Given the description of an element on the screen output the (x, y) to click on. 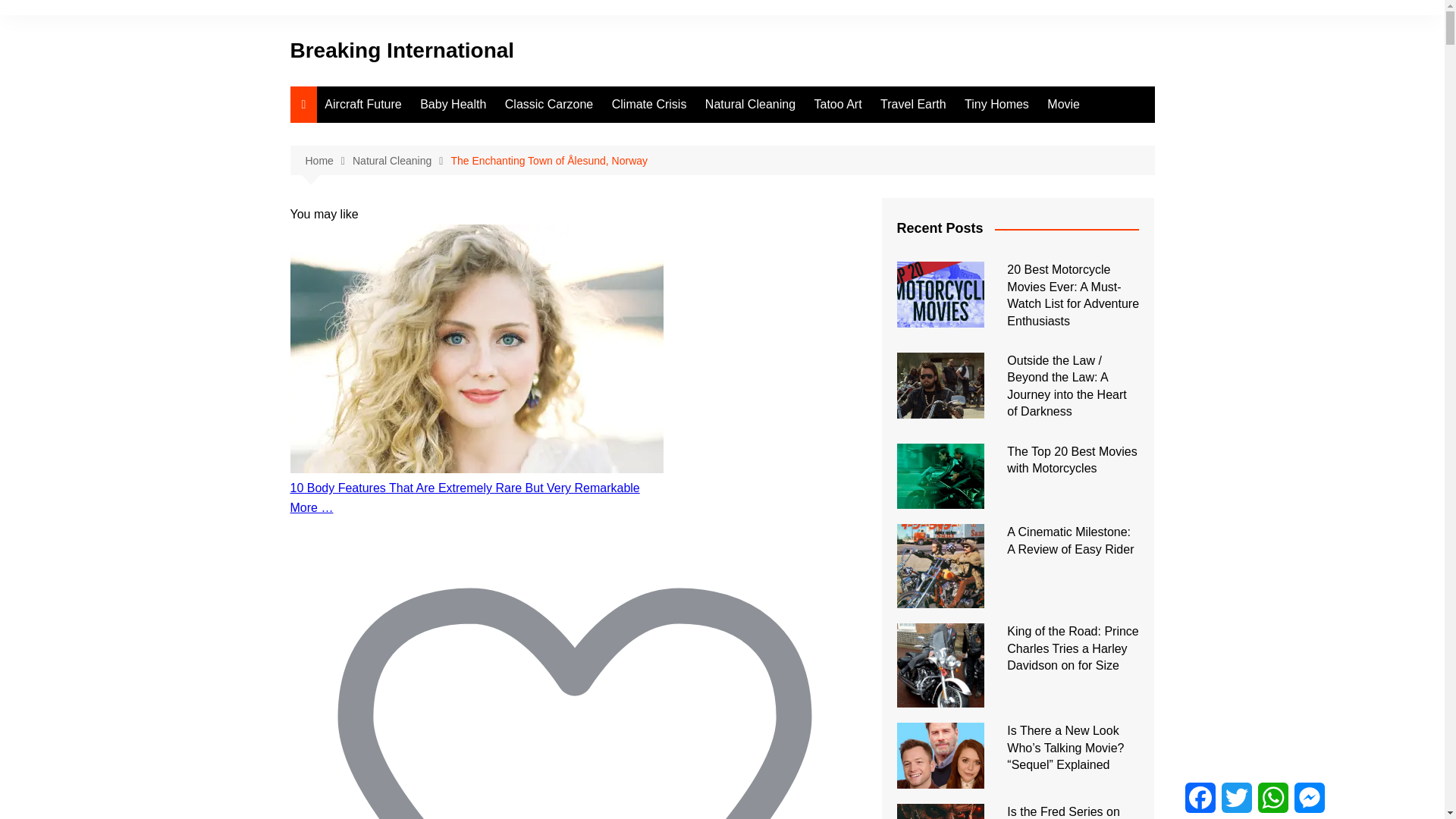
Climate Crisis (649, 104)
WhatsApp (1273, 797)
Aircraft Future (363, 104)
Messenger (1309, 797)
Travel Earth (912, 104)
Home (328, 160)
Facebook (1200, 797)
Tatoo Art (837, 104)
Classic Carzone (548, 104)
Natural Cleaning (750, 104)
Twitter (1236, 797)
Natural Cleaning (400, 160)
Movie (1063, 104)
Tiny Homes (996, 104)
